Given the description of an element on the screen output the (x, y) to click on. 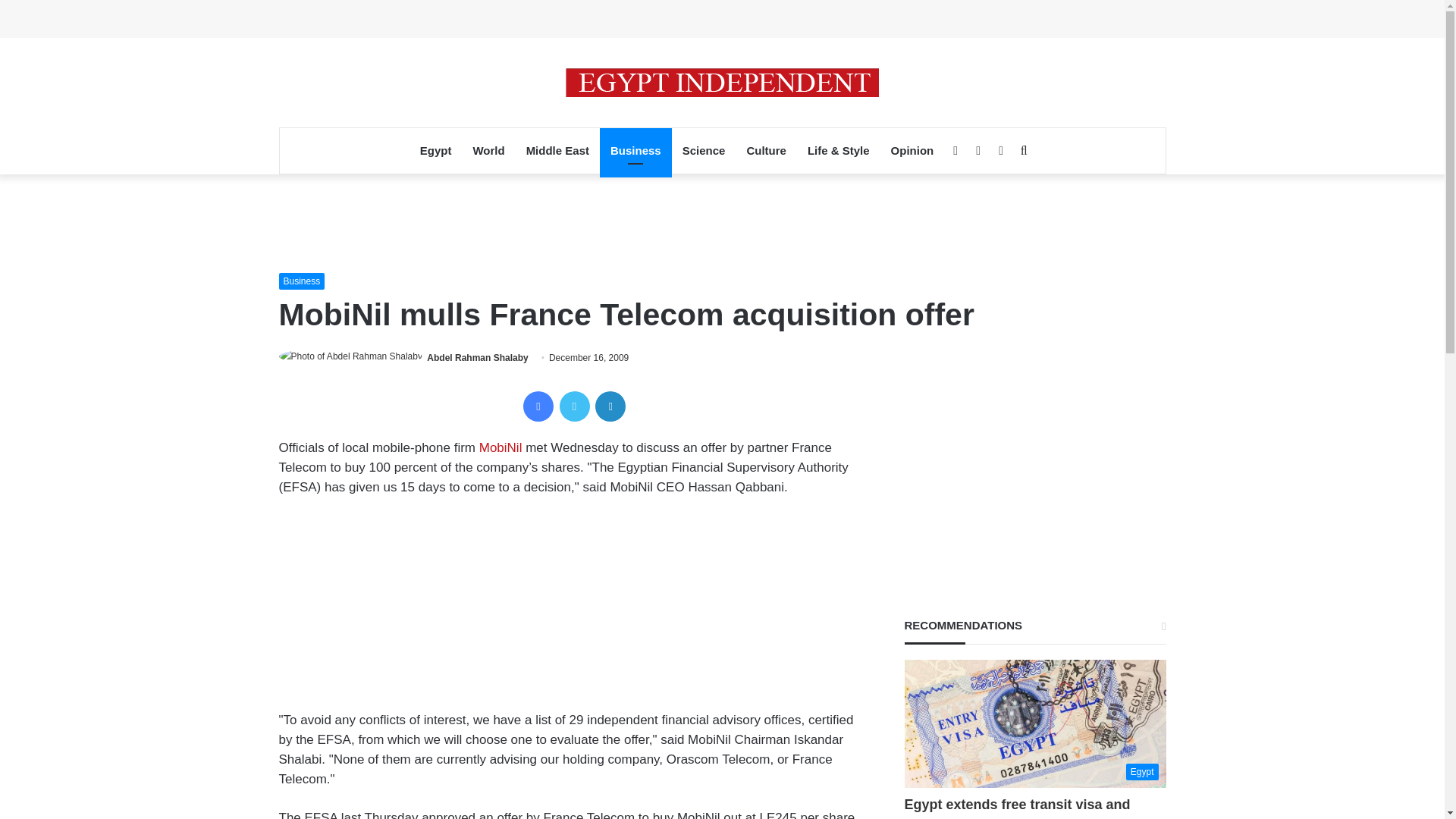
Middle East (557, 150)
Facebook (537, 406)
Facebook (537, 406)
Business (635, 150)
Culture (765, 150)
Twitter (574, 406)
Egypt (436, 150)
Science (703, 150)
World (488, 150)
Abdel Rahman Shalaby (476, 357)
